Given the description of an element on the screen output the (x, y) to click on. 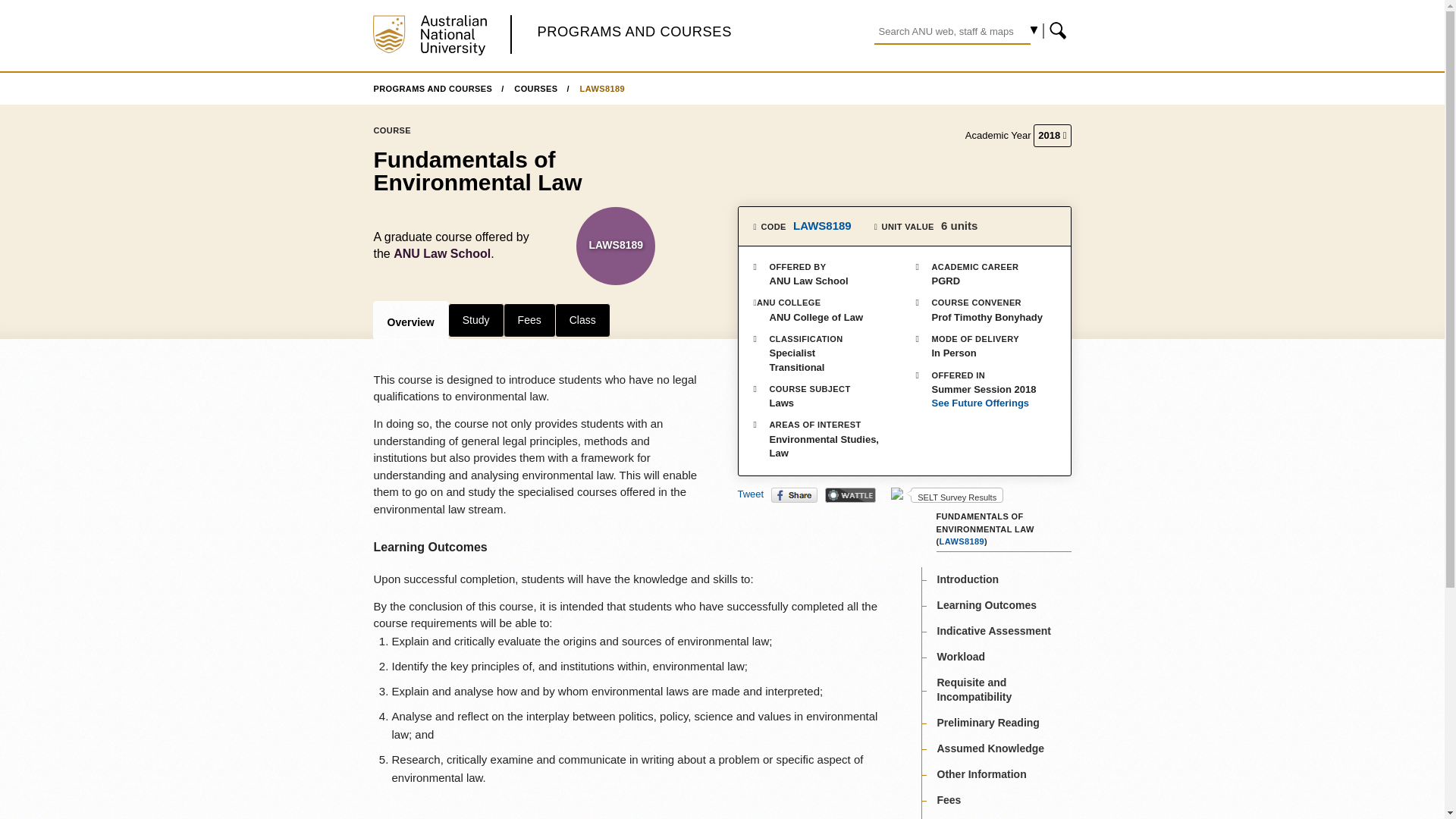
LAWS8189 (615, 244)
PROGRAMS AND COURSES (437, 88)
COURSES (541, 88)
LAWS8189 (961, 541)
Go (1059, 30)
LAWS8189 (822, 225)
Learning Outcomes (986, 604)
LAWS8189 (601, 88)
Share on Facebook (793, 494)
Introduction (967, 579)
PROGRAMS AND COURSES (633, 31)
Fees (529, 319)
Class (582, 319)
2018 (1051, 135)
See Future Offerings (985, 403)
